Given the description of an element on the screen output the (x, y) to click on. 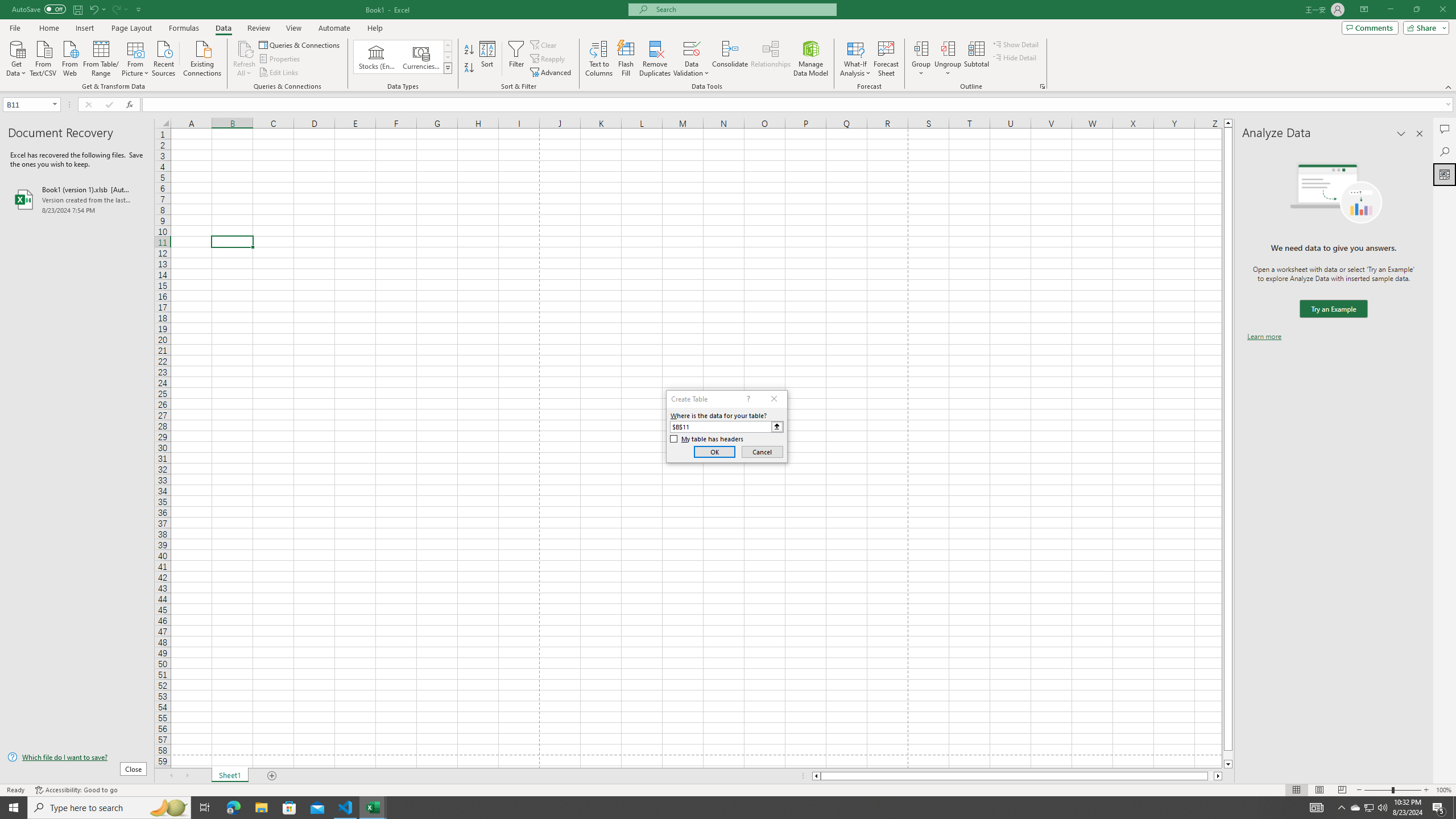
Filter (515, 58)
Recent Sources (163, 57)
Sort... (487, 58)
Data Validation... (691, 48)
